Given the description of an element on the screen output the (x, y) to click on. 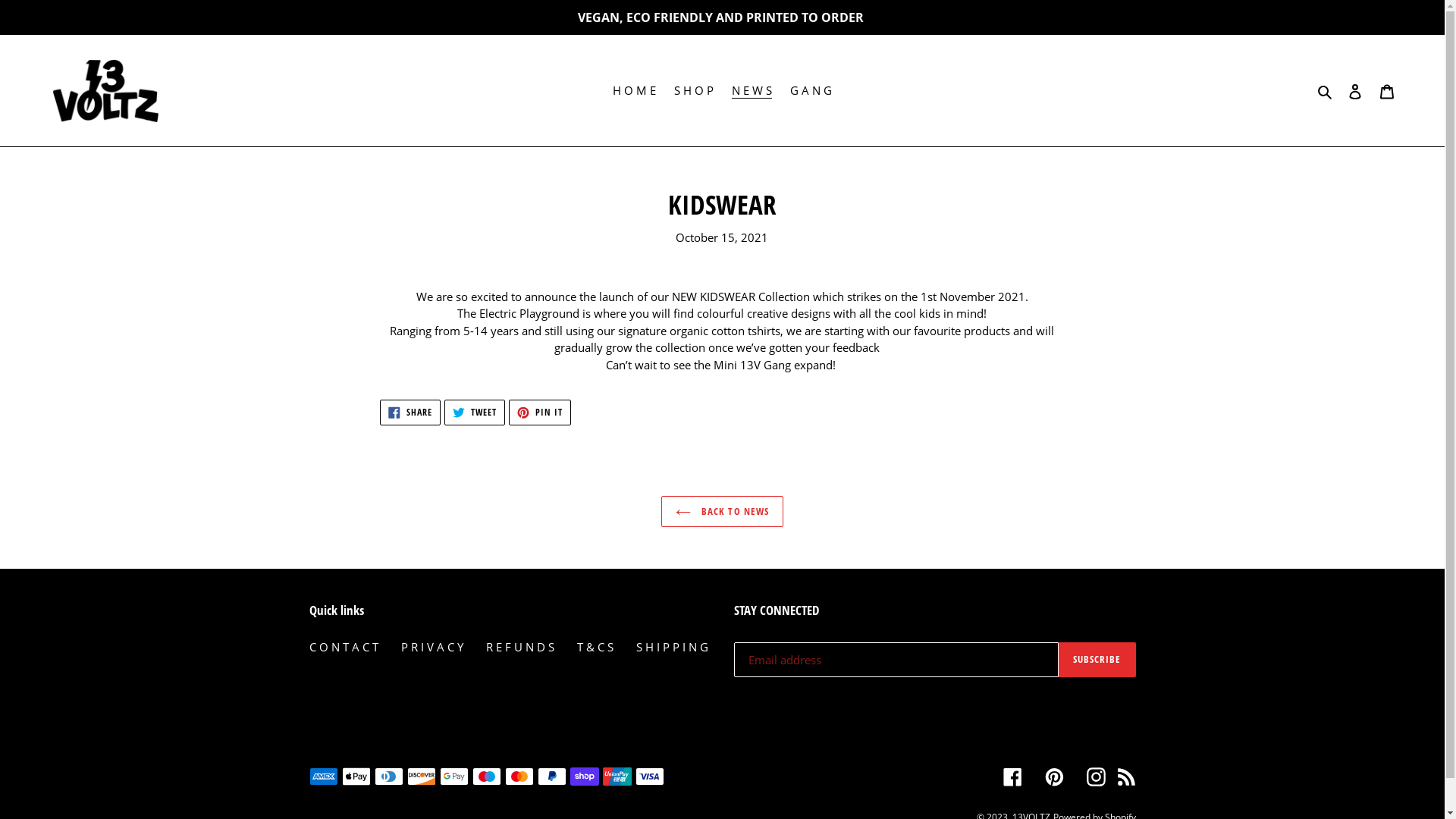
PIN IT
PIN ON PINTEREST Element type: text (539, 412)
S H I P P I N G Element type: text (671, 646)
Pinterest Element type: text (1053, 775)
BACK TO NEWS Element type: text (722, 511)
Log in Element type: text (1355, 90)
Instagram Element type: text (1094, 775)
SHARE
SHARE ON FACEBOOK Element type: text (409, 412)
SUBSCRIBE Element type: text (1096, 659)
T & C S Element type: text (594, 646)
H O M E Element type: text (634, 90)
G A N G Element type: text (810, 90)
C O N T A C T Element type: text (343, 646)
S H O P Element type: text (693, 90)
Cart Element type: text (1386, 90)
RSS Element type: text (1125, 775)
N E W S Element type: text (751, 90)
R E F U N D S Element type: text (519, 646)
TWEET
TWEET ON TWITTER Element type: text (474, 412)
P R I V A C Y Element type: text (431, 646)
Facebook Element type: text (1011, 775)
Search Element type: text (1325, 90)
